Given the description of an element on the screen output the (x, y) to click on. 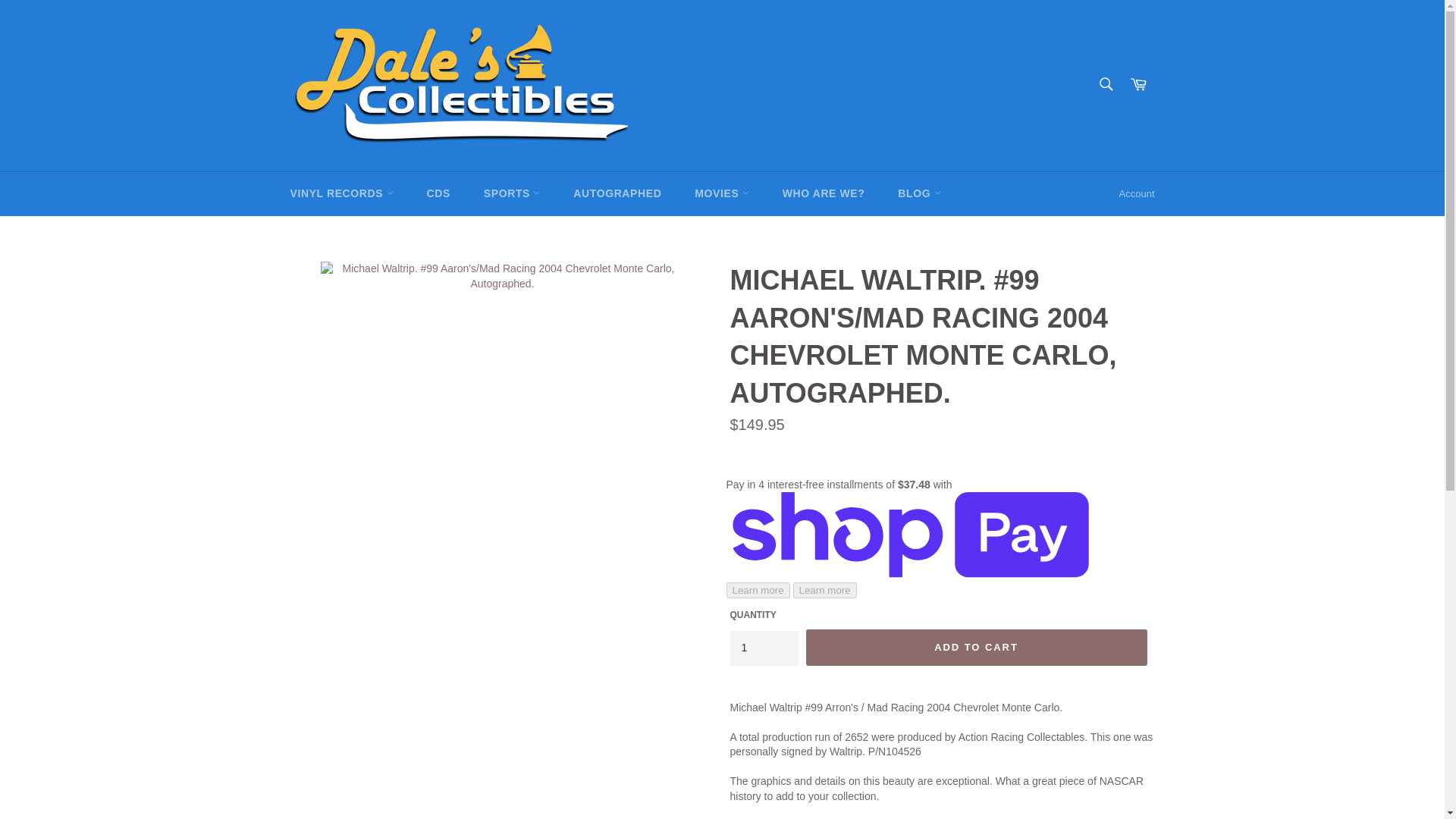
Search (1104, 83)
1 (763, 647)
VINYL RECORDS (341, 193)
Cart (1138, 84)
